Given the description of an element on the screen output the (x, y) to click on. 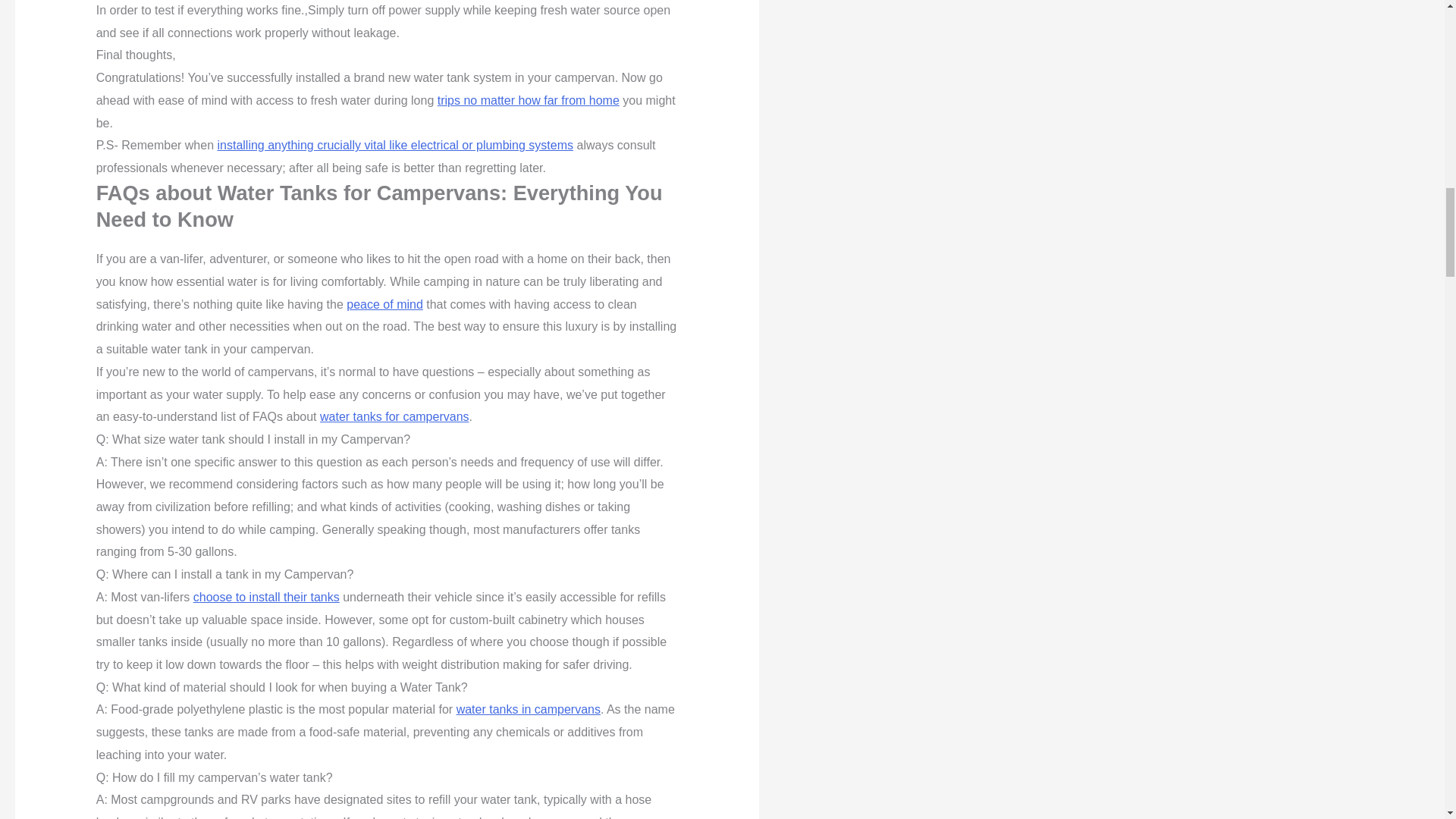
trips no matter how far from home (529, 100)
water tanks in campervans (528, 708)
choose to install their tanks (266, 596)
water tanks for campervans (394, 416)
peace of mind (384, 304)
